Given the description of an element on the screen output the (x, y) to click on. 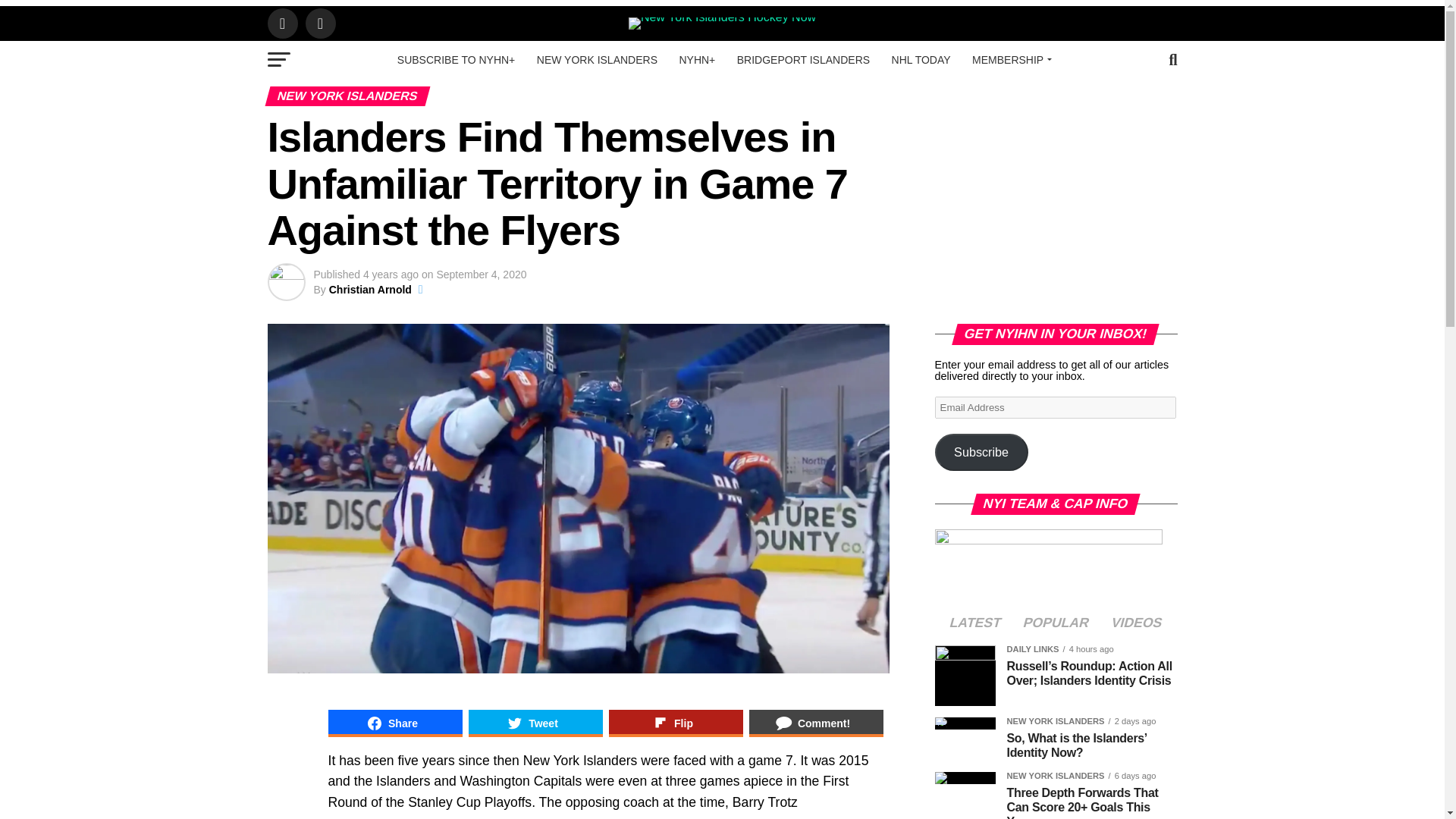
NEW YORK ISLANDERS (596, 59)
Share on Tweet (535, 723)
Posts by Christian Arnold (370, 289)
BRIDGEPORT ISLANDERS (803, 59)
Share on Comment! (816, 723)
Share on Share (394, 723)
NHL TODAY (920, 59)
Share on Flip (675, 723)
